Given the description of an element on the screen output the (x, y) to click on. 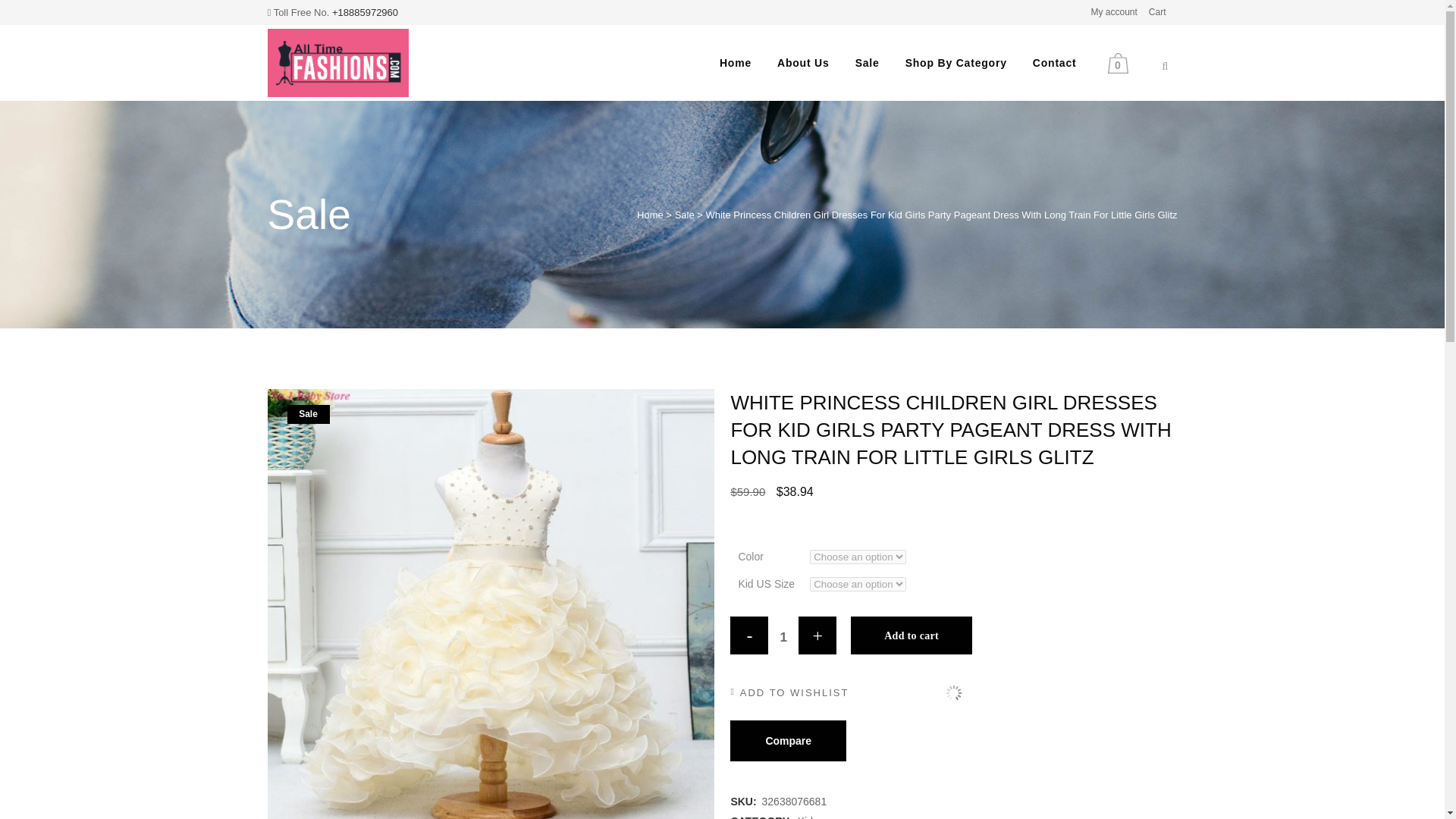
1 (782, 637)
Qty (782, 637)
Shop By Category (956, 62)
My account (1107, 12)
0 (1120, 63)
Contact (1054, 62)
Cart (1151, 12)
About Us (803, 62)
- (749, 635)
